Given the description of an element on the screen output the (x, y) to click on. 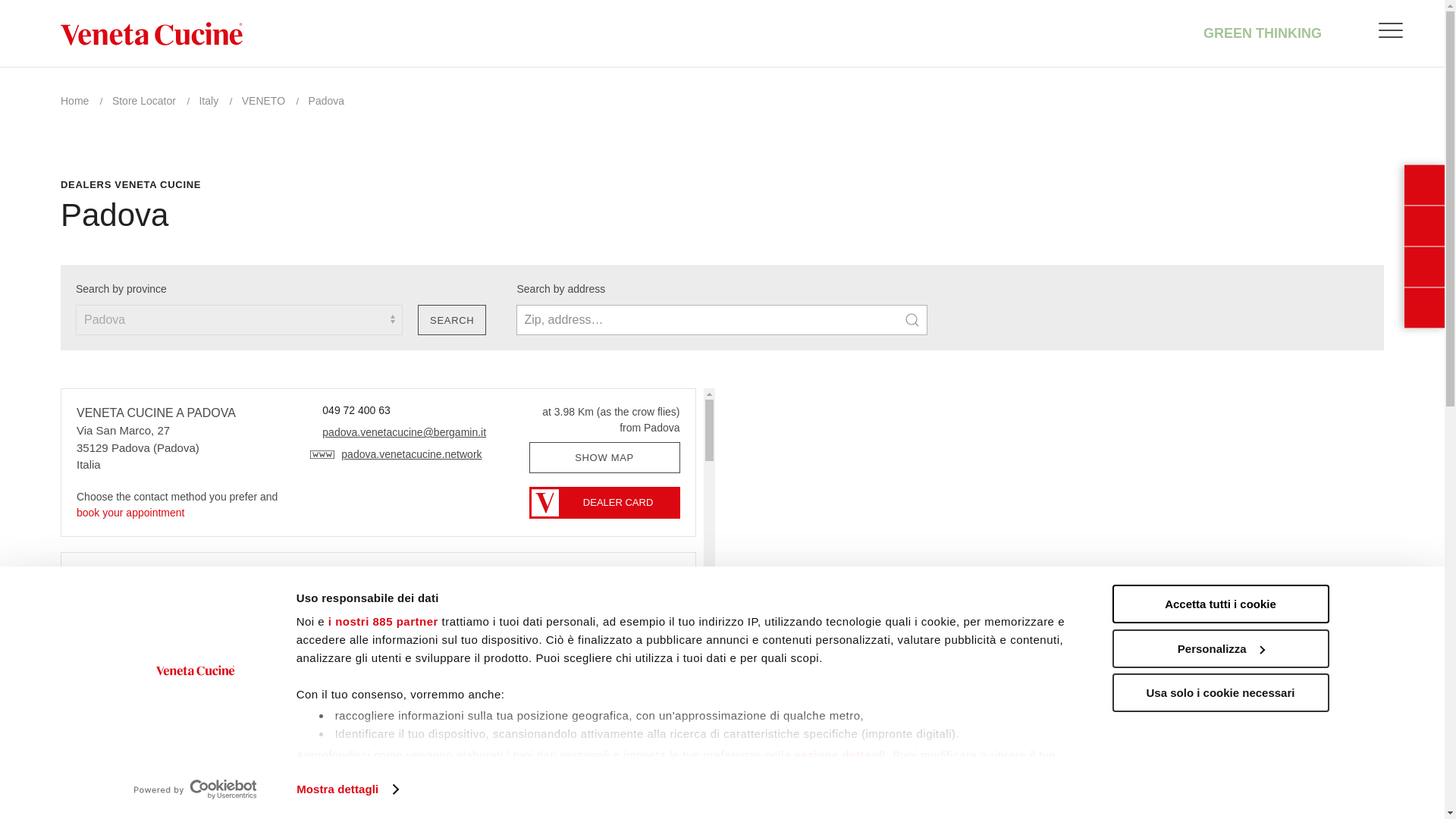
Search (451, 319)
sezione dettagli (840, 754)
i nostri 885 partner (383, 621)
Mostra dettagli (347, 789)
